Given the description of an element on the screen output the (x, y) to click on. 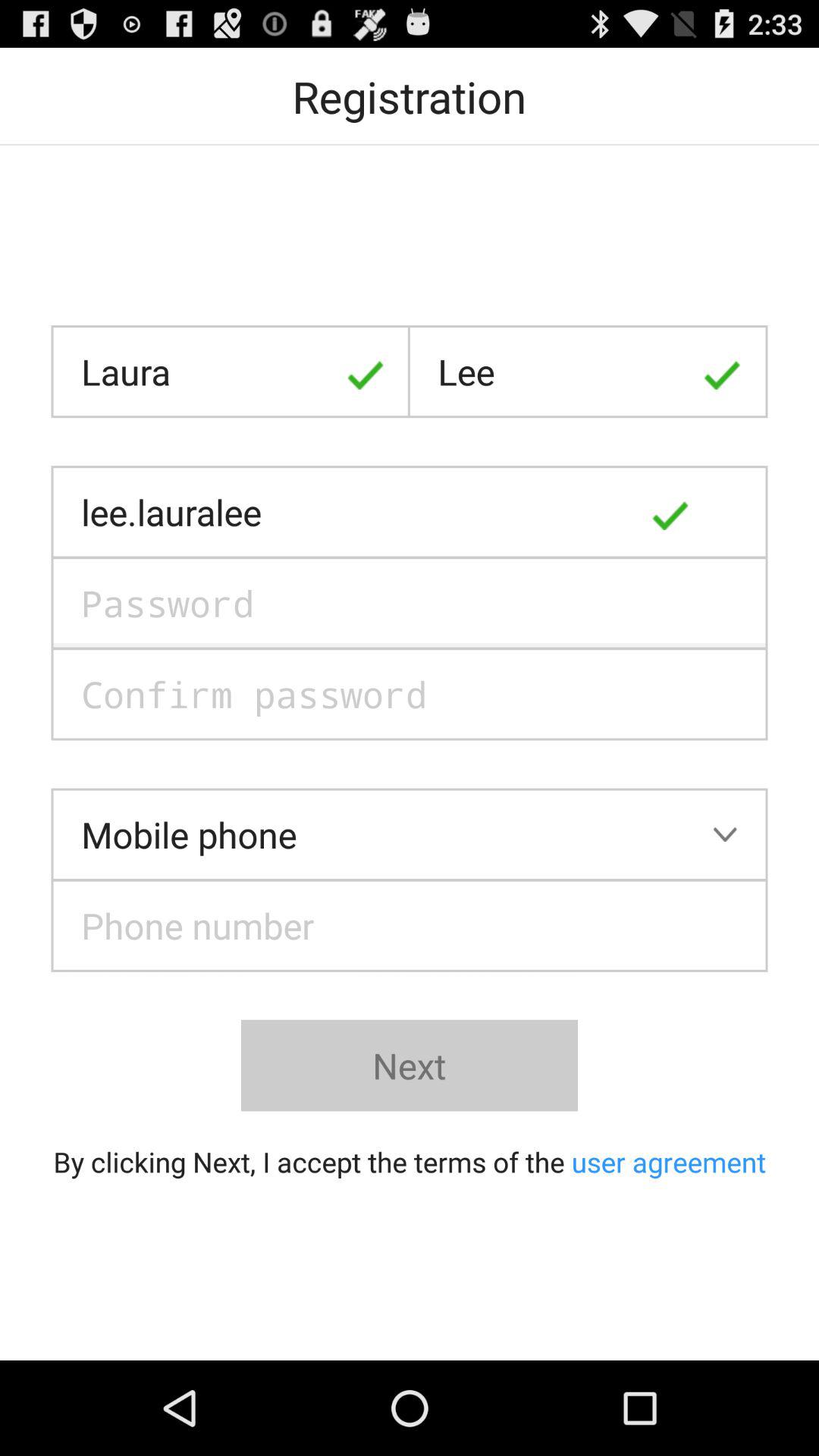
turn on lee.lauralee item (409, 511)
